Given the description of an element on the screen output the (x, y) to click on. 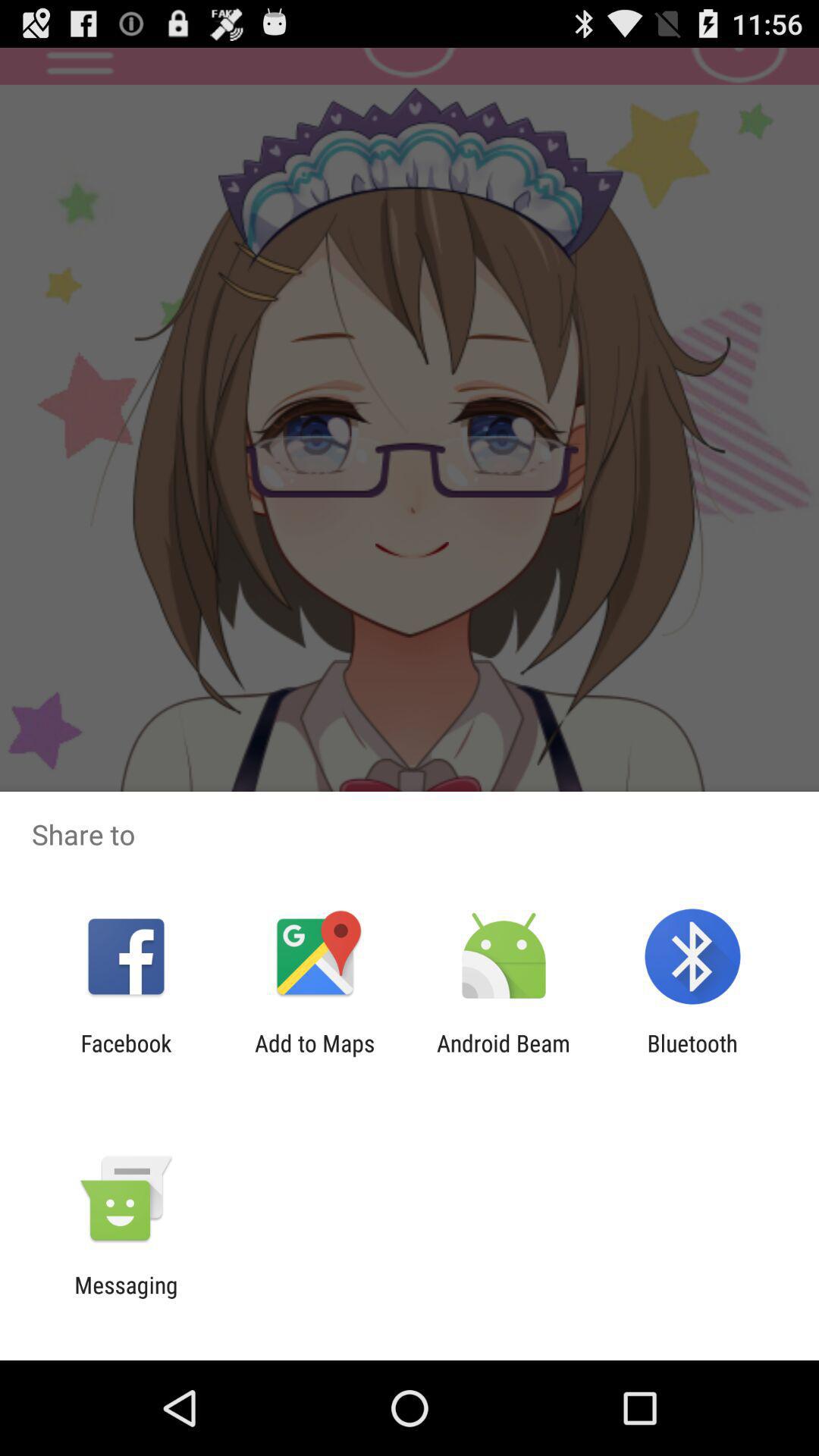
press app next to the facebook item (314, 1056)
